Given the description of an element on the screen output the (x, y) to click on. 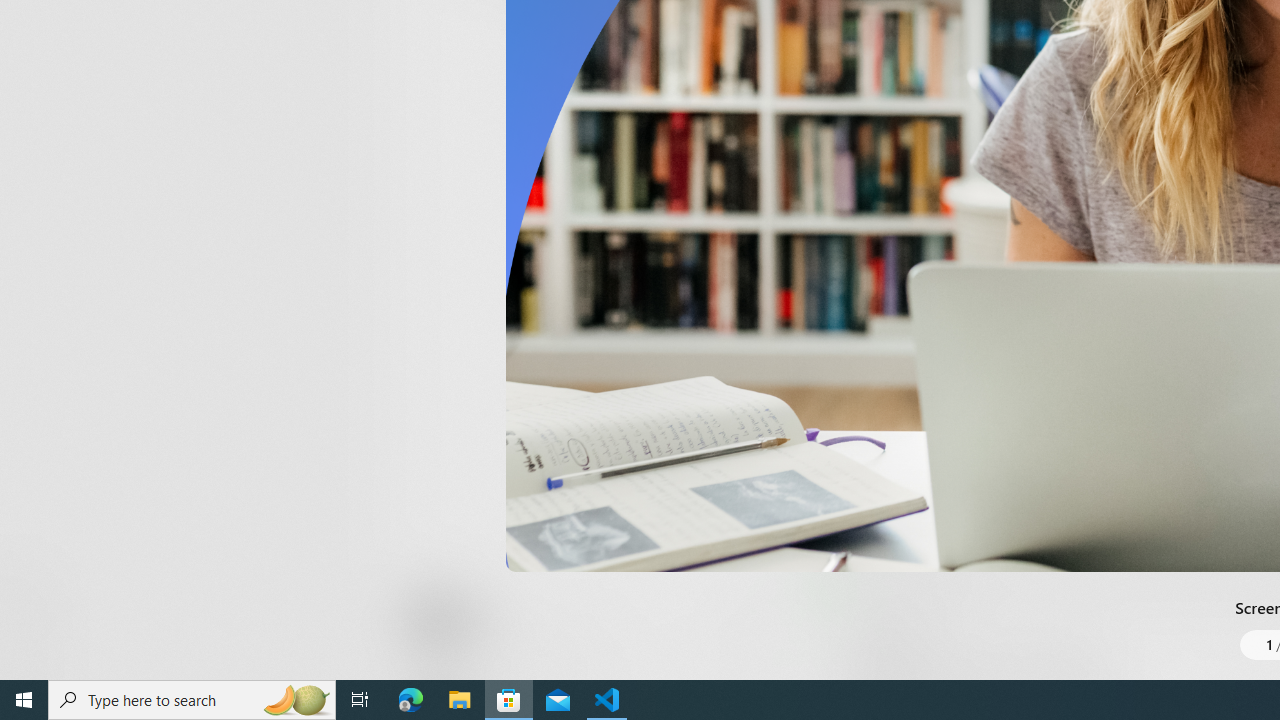
Show all ratings and reviews (838, 454)
Library (35, 640)
Age rating: TEEN. Click for more information. (488, 619)
What's New (35, 578)
Social (579, 23)
Share (746, 632)
Show more (854, 31)
